Given the description of an element on the screen output the (x, y) to click on. 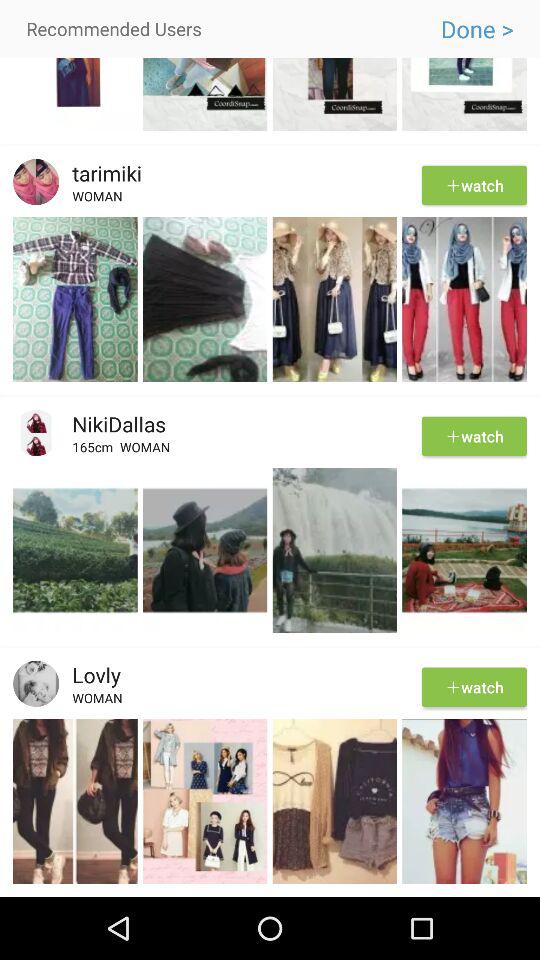
open app below the nikidallas (96, 450)
